Given the description of an element on the screen output the (x, y) to click on. 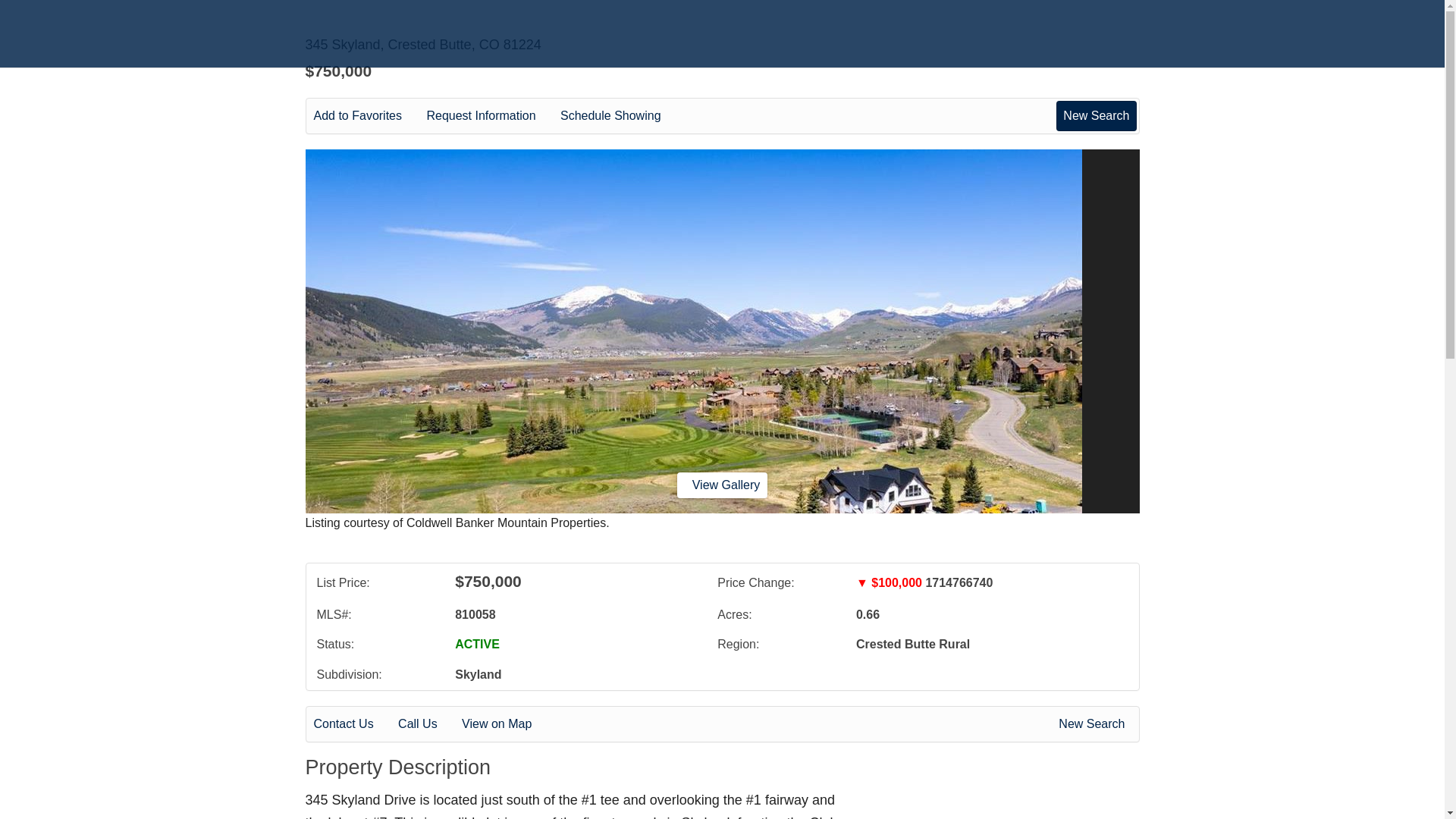
Contact Us (354, 723)
Request Information (491, 115)
New Search (1094, 723)
New Search (1096, 115)
View Gallery (722, 484)
View on Map (507, 723)
Add to Favorites (368, 115)
Call Us (427, 723)
Schedule Showing (621, 115)
View Gallery (722, 484)
